Given the description of an element on the screen output the (x, y) to click on. 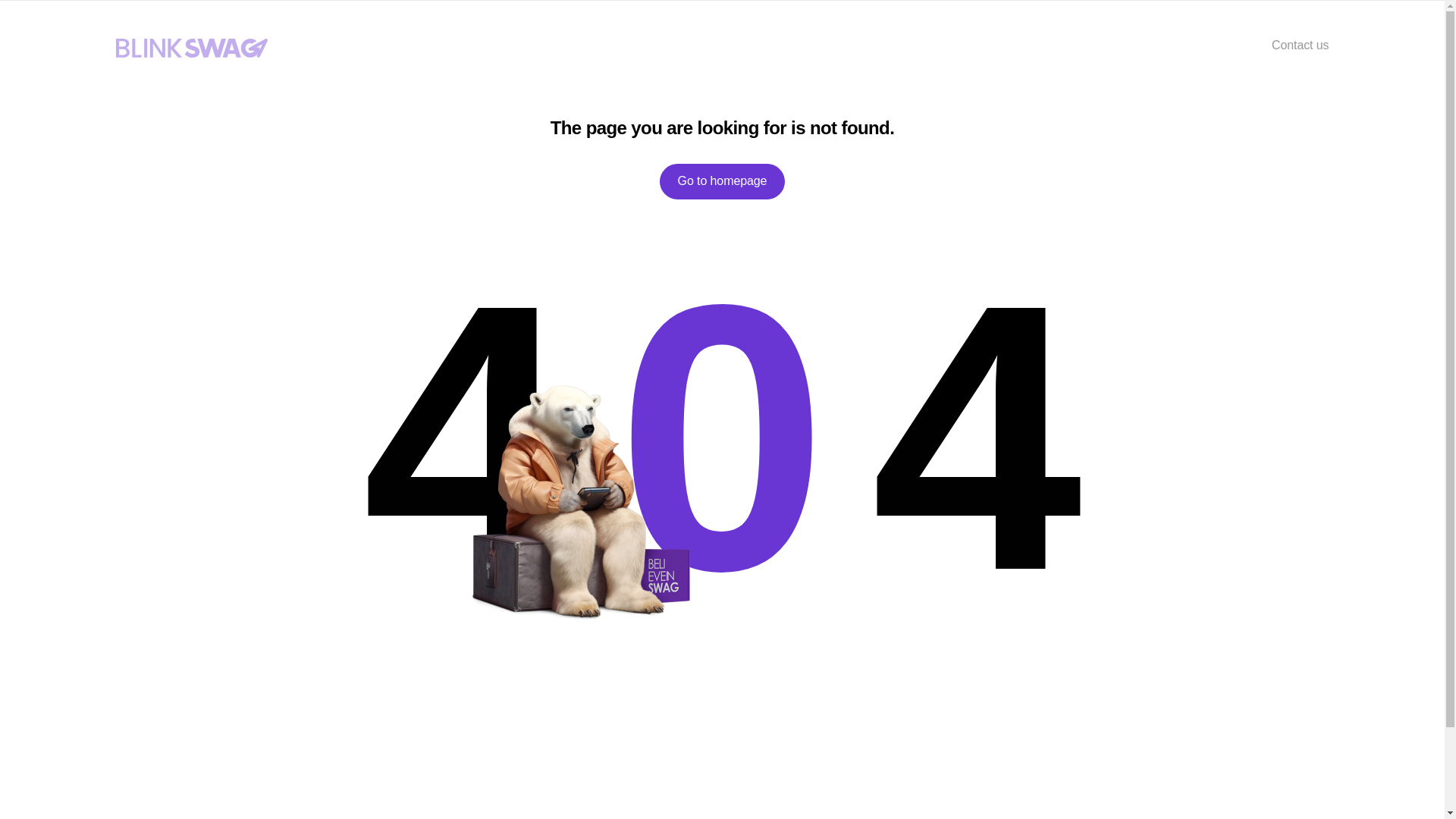
Go to homepage (722, 181)
Contact us (1299, 44)
bear (576, 501)
